Given the description of an element on the screen output the (x, y) to click on. 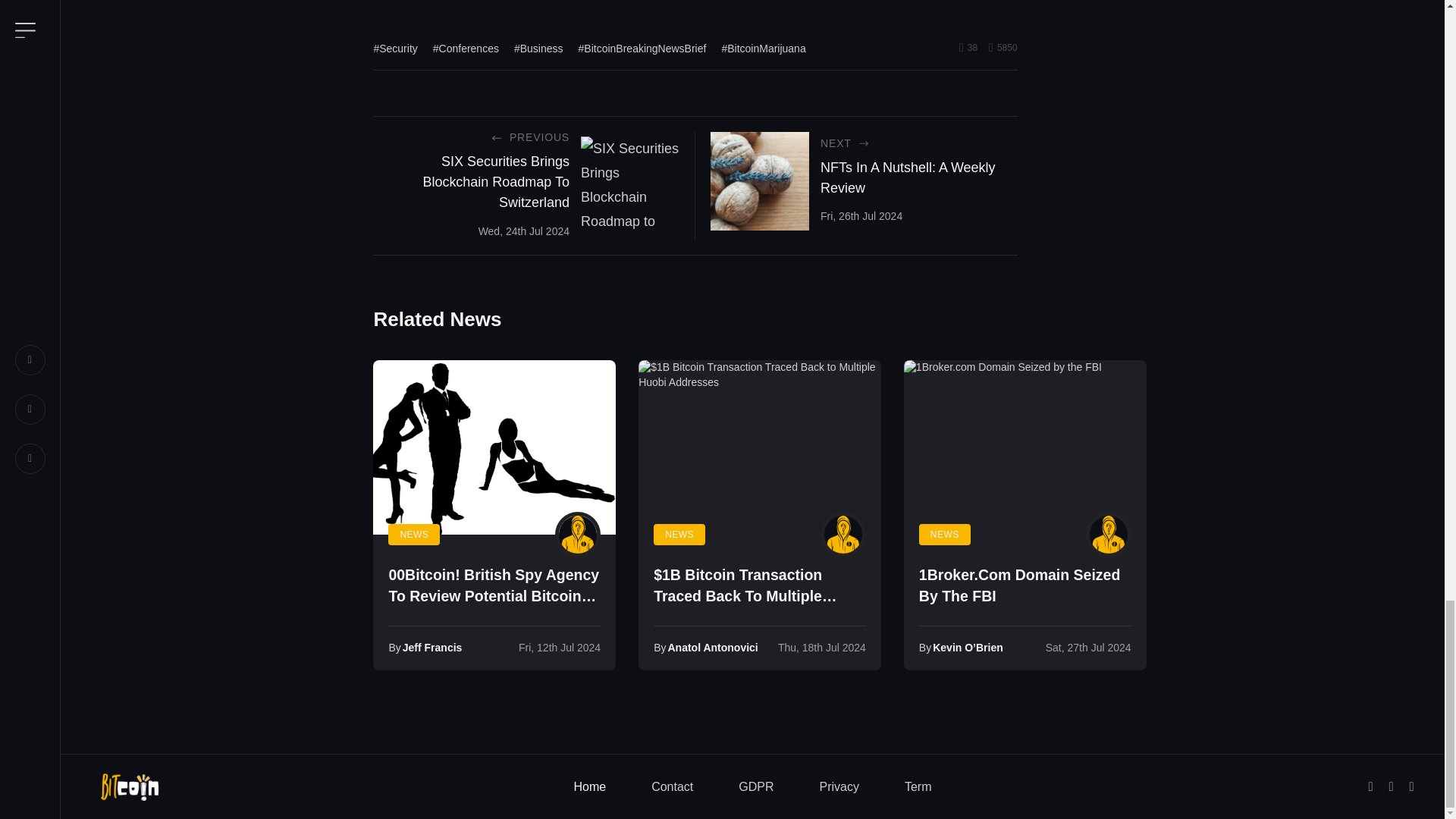
Mon, 8th Jul 2024 (558, 647)
Wed, 24th Jul 2024 (524, 231)
Posts by Jeff Francis (576, 534)
Posts by Anatol Antonovici (711, 647)
Posts by Anatol Antonovici (843, 534)
Mon, 15th Jul 2024 (821, 647)
Fri, 26th Jul 2024 (861, 215)
Posts by Jeff Francis (433, 647)
